Given the description of an element on the screen output the (x, y) to click on. 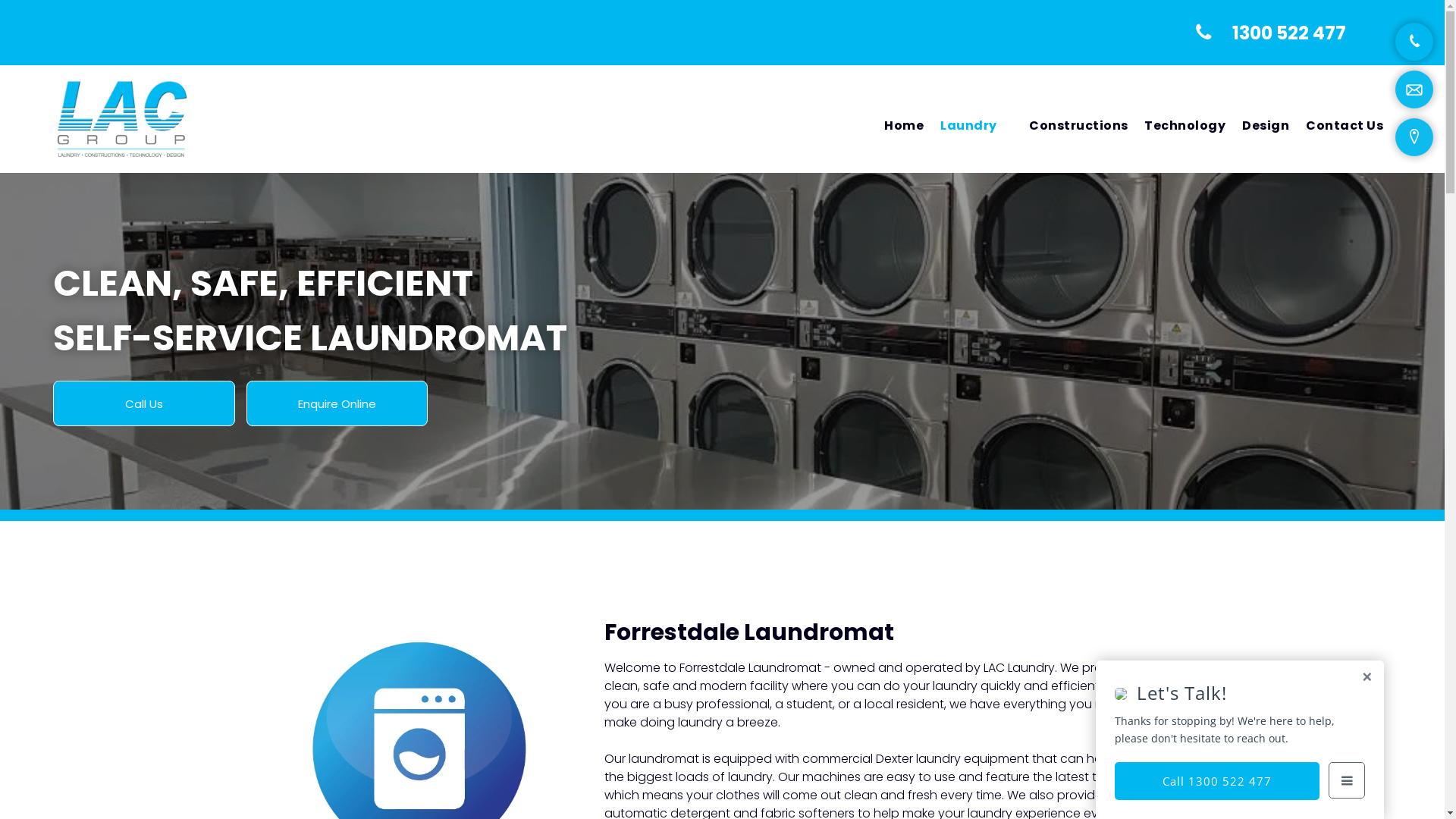
Contact Us Element type: text (1344, 125)
Constructions Element type: text (1077, 125)
Design Element type: text (1265, 125)
Call Us Element type: text (144, 403)
Enquire Online Element type: text (336, 403)
1300 522 477 Element type: text (1288, 32)
Call 1300 522 477 Element type: text (1216, 781)
Home Element type: text (903, 125)
Laundry Element type: text (975, 125)
LAC Group Element type: hover (122, 118)
Technology Element type: text (1184, 125)
